Given the description of an element on the screen output the (x, y) to click on. 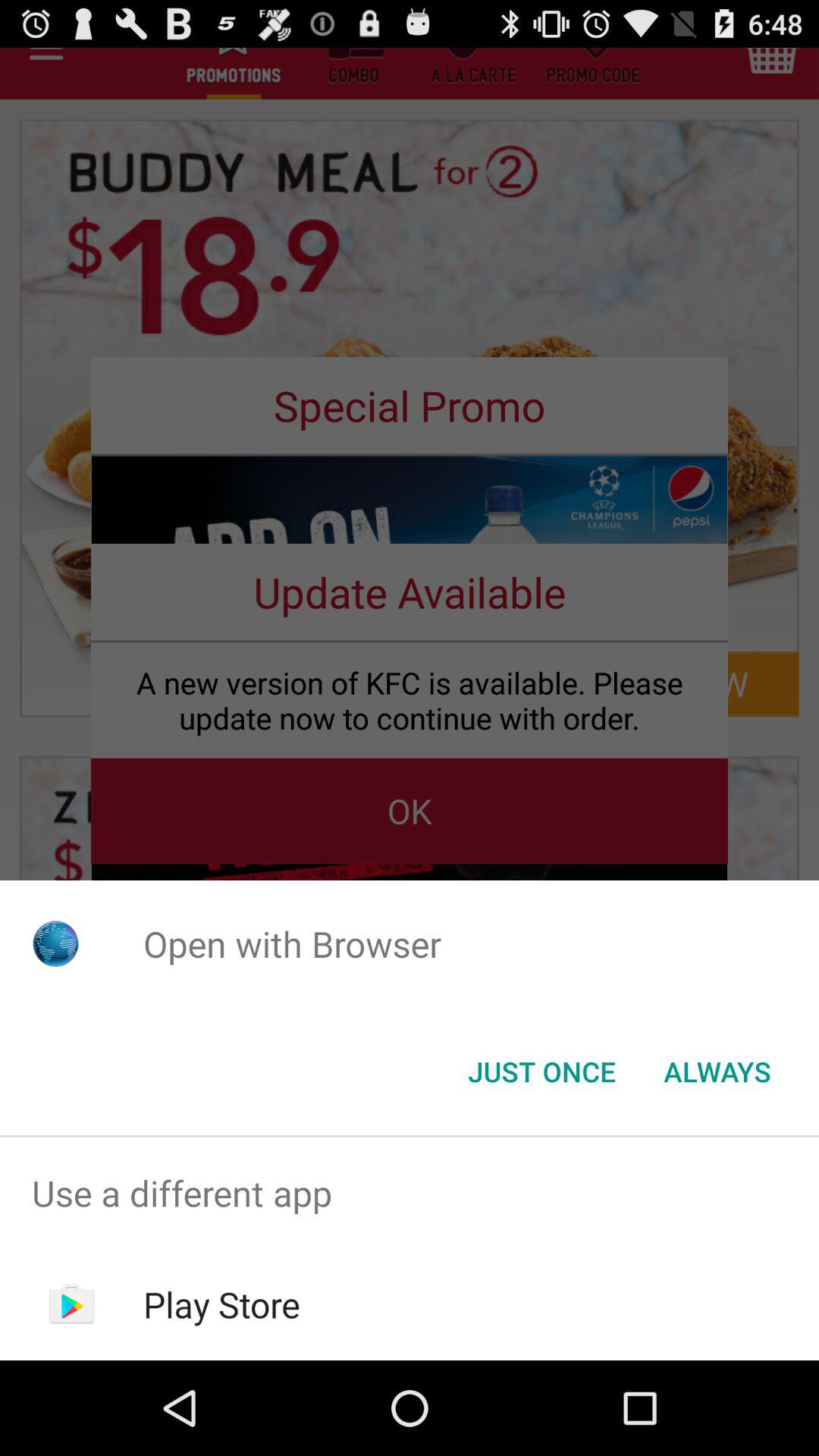
turn on the just once (541, 1071)
